Given the description of an element on the screen output the (x, y) to click on. 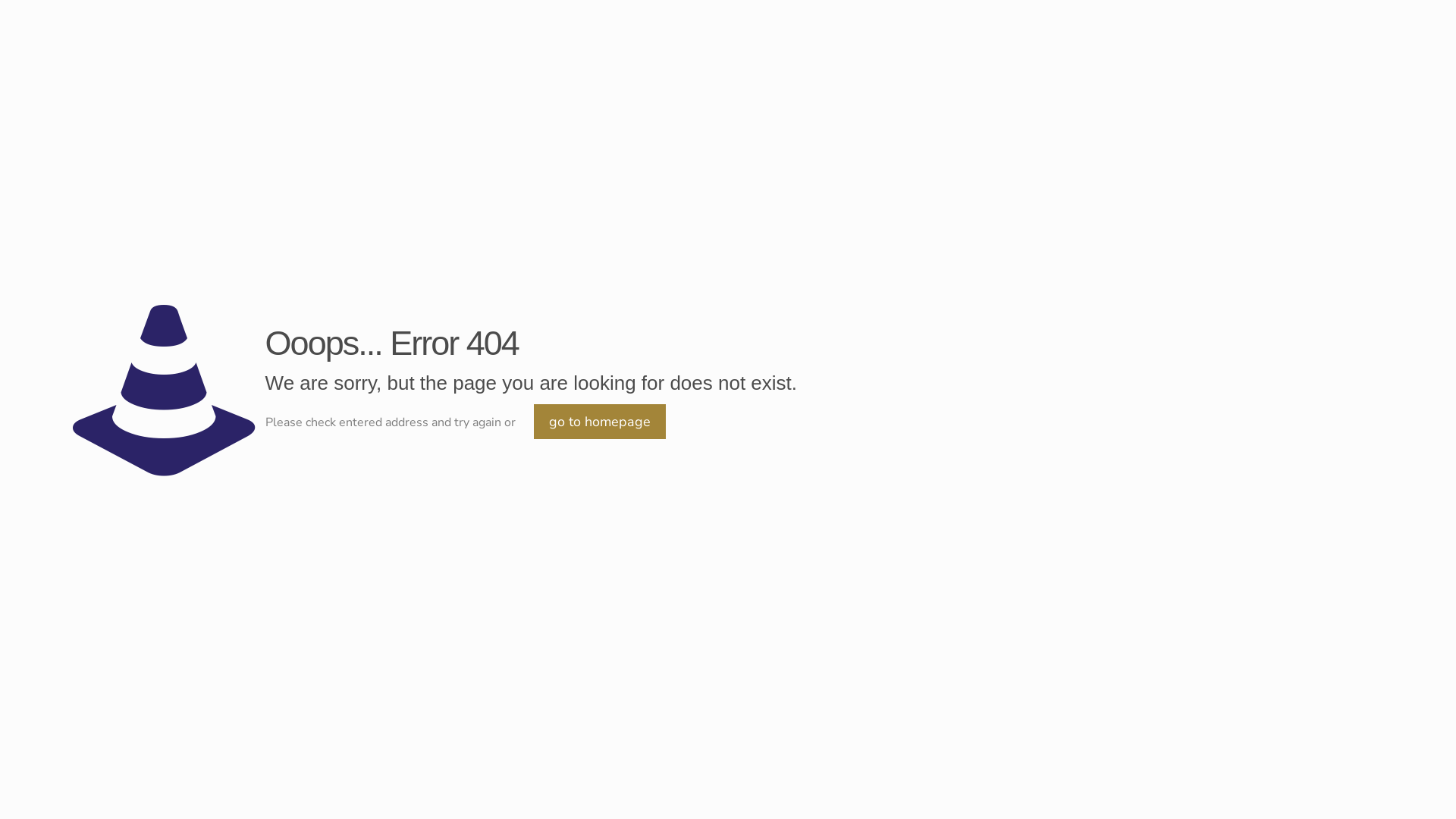
go to homepage Element type: text (599, 421)
